Given the description of an element on the screen output the (x, y) to click on. 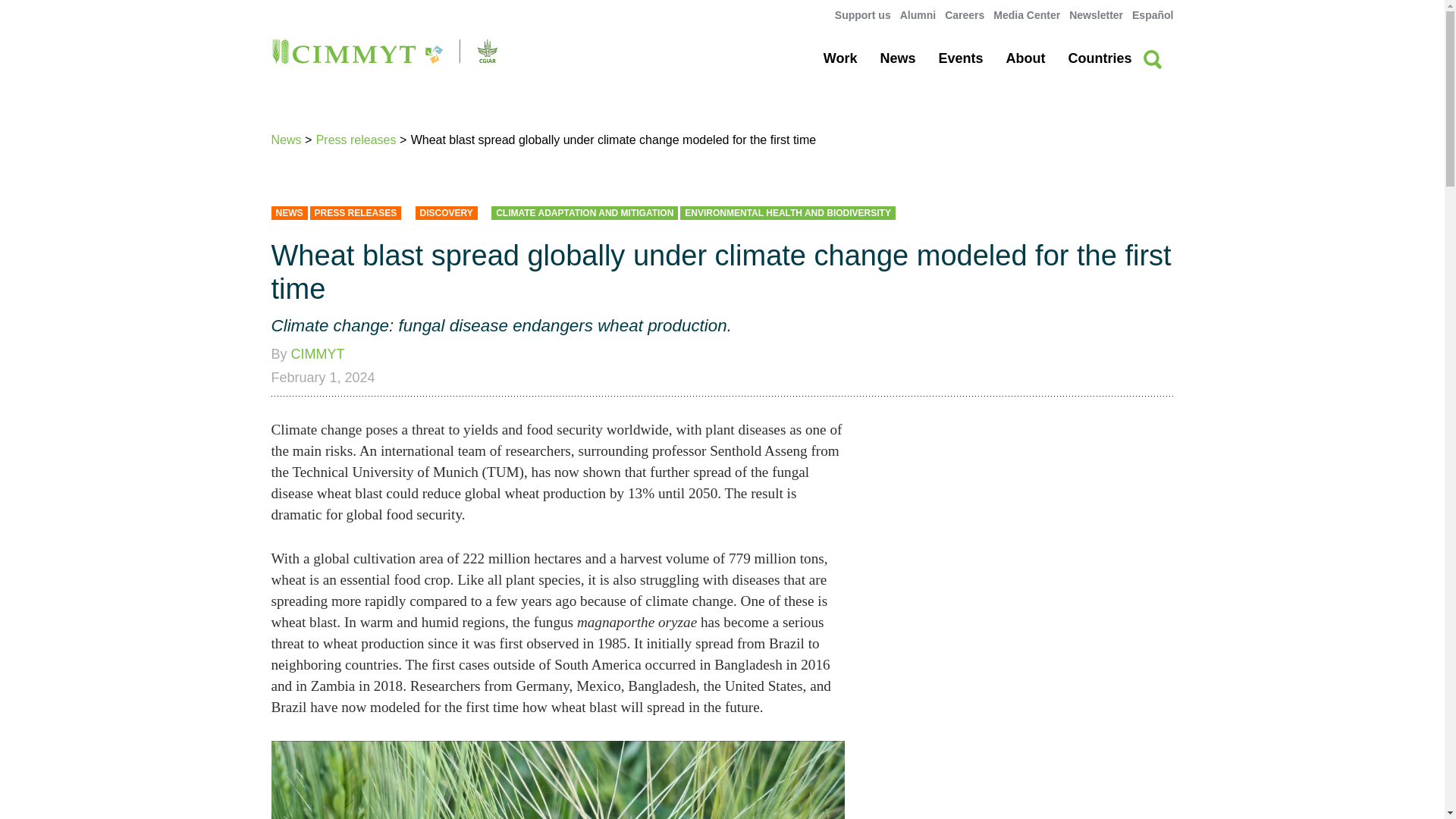
Media Center (1025, 15)
About us (1025, 57)
Careers (964, 15)
Posts by CIMMYT (318, 353)
Events (959, 57)
Careers and training (964, 15)
Newsletter (1095, 15)
Events (959, 57)
News (897, 57)
Countries (1099, 57)
